Given the description of an element on the screen output the (x, y) to click on. 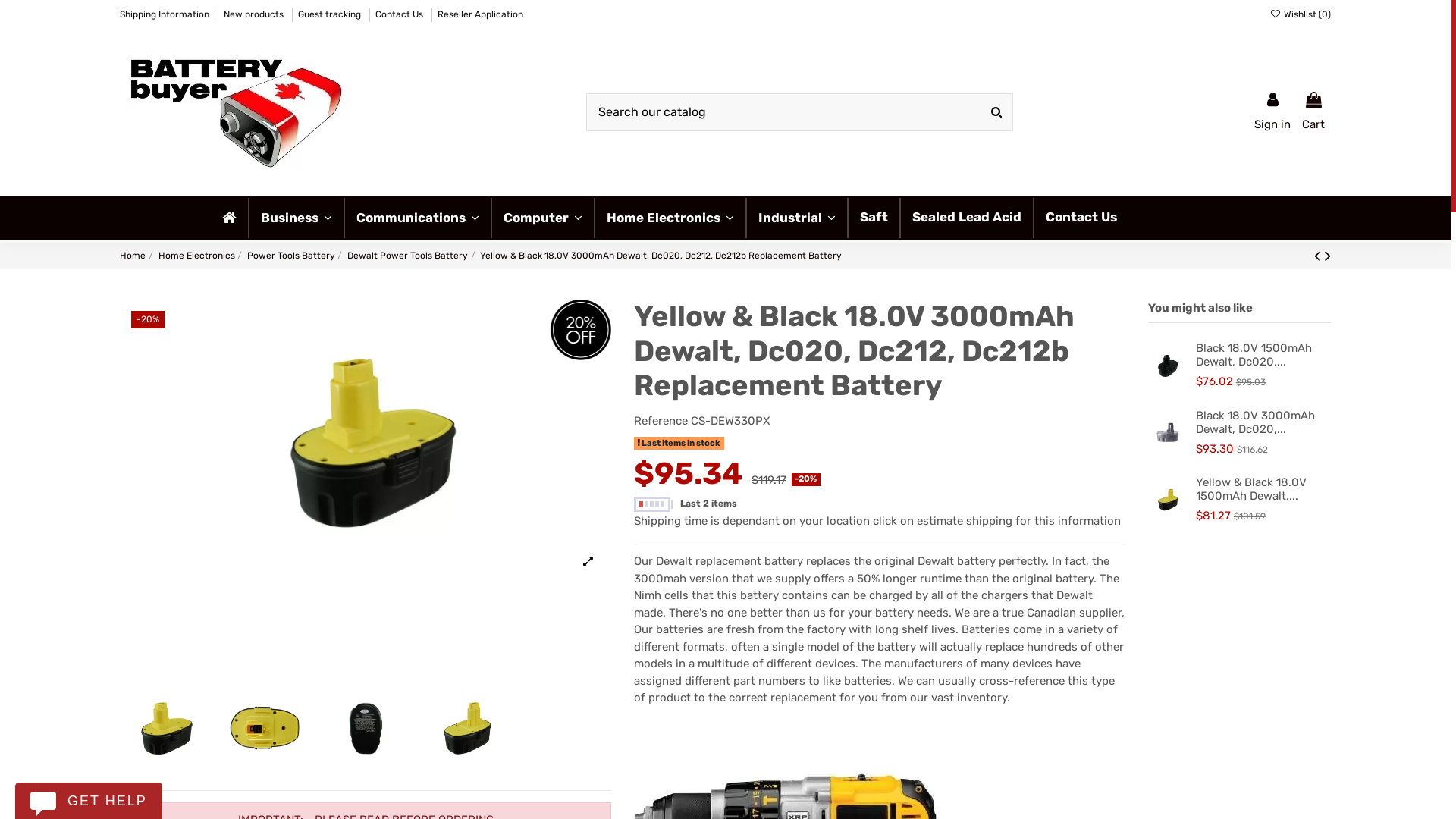
Black 18.0V 3000mAh Dewalt, Dc020,... Element type: text (1254, 421)
Reseller Application Element type: text (480, 14)
Yellow & Black 18.0V 1500mAh Dewalt,... Element type: text (1250, 488)
Cart Element type: text (1313, 112)
Power Tools Battery Element type: text (291, 255)
Dewalt Power Tools Battery Element type: text (407, 255)
Business Element type: text (295, 217)
Wishlist (0) Element type: text (1299, 14)
Contact Us Element type: text (400, 14)
Home Element type: text (132, 255)
Contact Us Element type: text (1080, 217)
Black 18.0V 1500mAh Dewalt, Dc020,... Element type: text (1253, 354)
Industrial Element type: text (796, 217)
Next product Element type: hover (1327, 255)
Sign in Element type: text (1272, 112)
Computer Element type: text (541, 217)
Sealed Lead Acid Element type: text (965, 217)
Guest tracking Element type: text (330, 14)
New products Element type: text (254, 14)
Saft Element type: text (873, 217)
Home Electronics Element type: text (196, 255)
Home Electronics Element type: text (669, 217)
Previous product Element type: hover (1319, 255)
Shipping Information Element type: text (165, 14)
Communications Element type: text (416, 217)
